Given the description of an element on the screen output the (x, y) to click on. 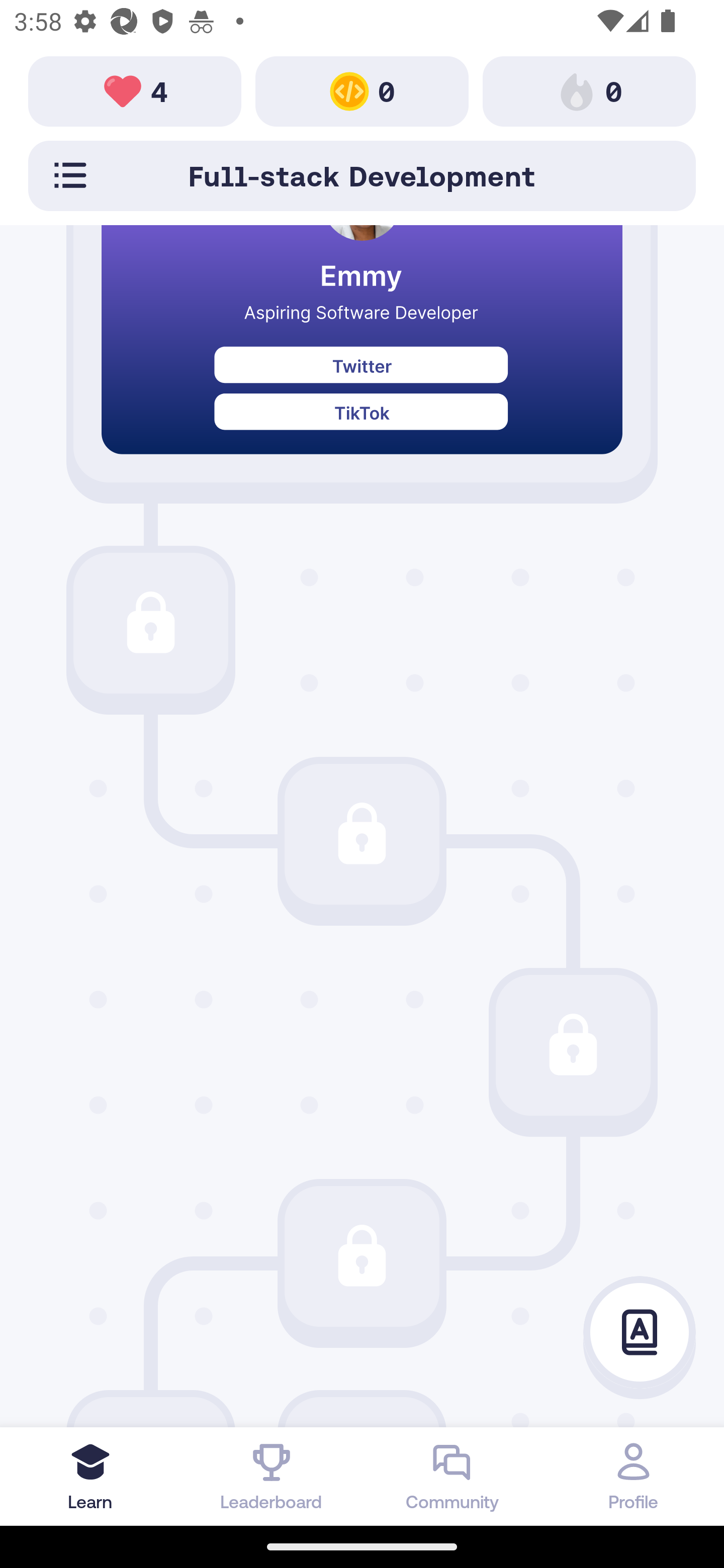
Path Toolbar Image 4 (134, 90)
Path Toolbar Image 0 (361, 90)
Path Toolbar Image 0 (588, 90)
Path Toolbar Selector Full-stack Development (361, 175)
preview image (361, 353)
Path Icon (150, 623)
Path Icon (361, 833)
Path Icon (572, 1045)
Path Icon (361, 1255)
Glossary Icon (639, 1332)
Leaderboard (271, 1475)
Community (452, 1475)
Profile (633, 1475)
